Given the description of an element on the screen output the (x, y) to click on. 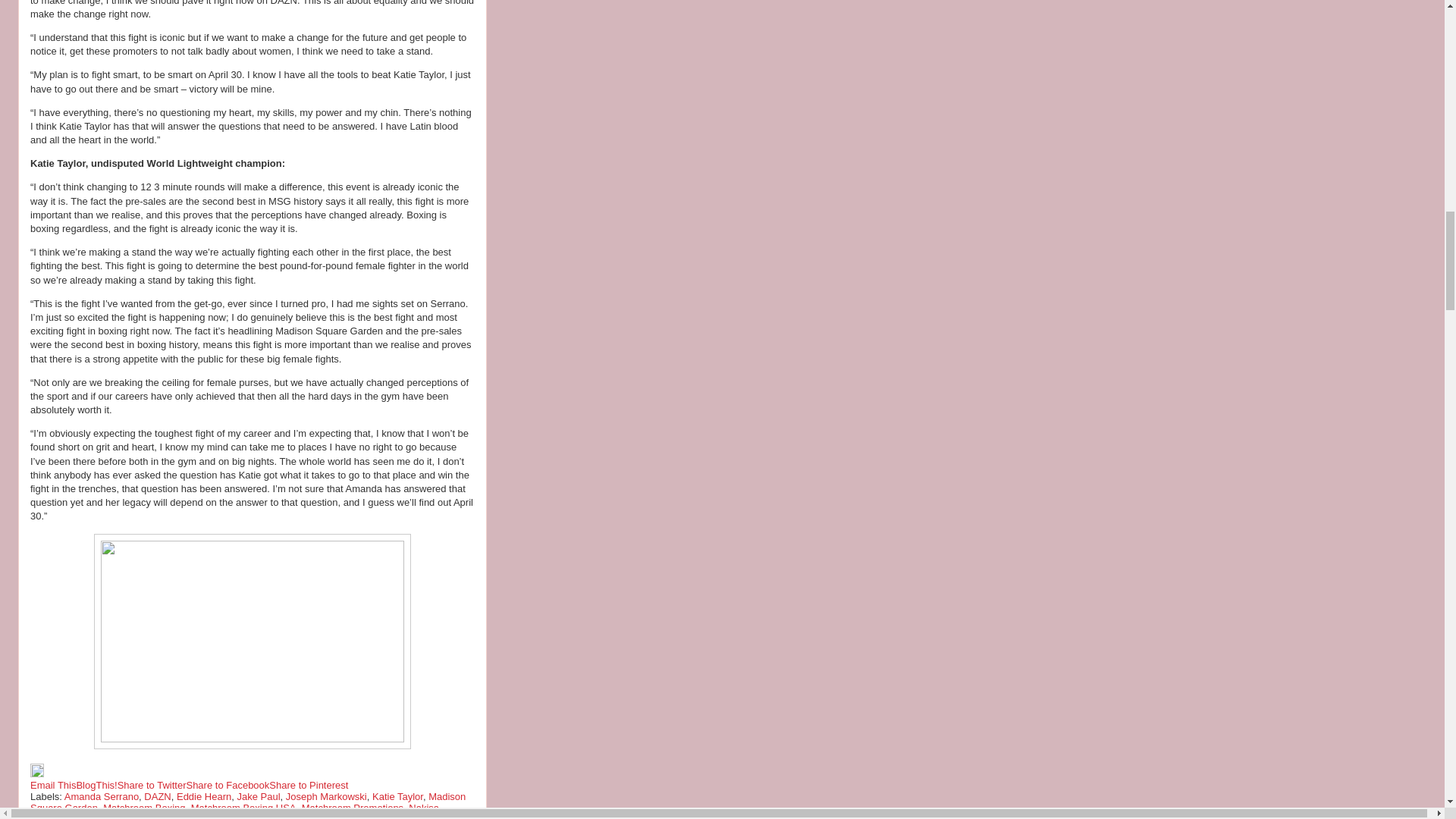
Matchroom Boxing (143, 808)
Jake Paul (257, 796)
Madison Square Garden (247, 802)
Matchroom Boxing USA (243, 808)
Katie Taylor (397, 796)
Share to Facebook (227, 785)
DAZN (157, 796)
Joseph Markowski (325, 796)
Email This (52, 785)
Eddie Hearn (203, 796)
Share to Facebook (227, 785)
Share to Pinterest (308, 785)
Share to Twitter (151, 785)
Matchroom Promotions (352, 808)
BlogThis! (95, 785)
